Given the description of an element on the screen output the (x, y) to click on. 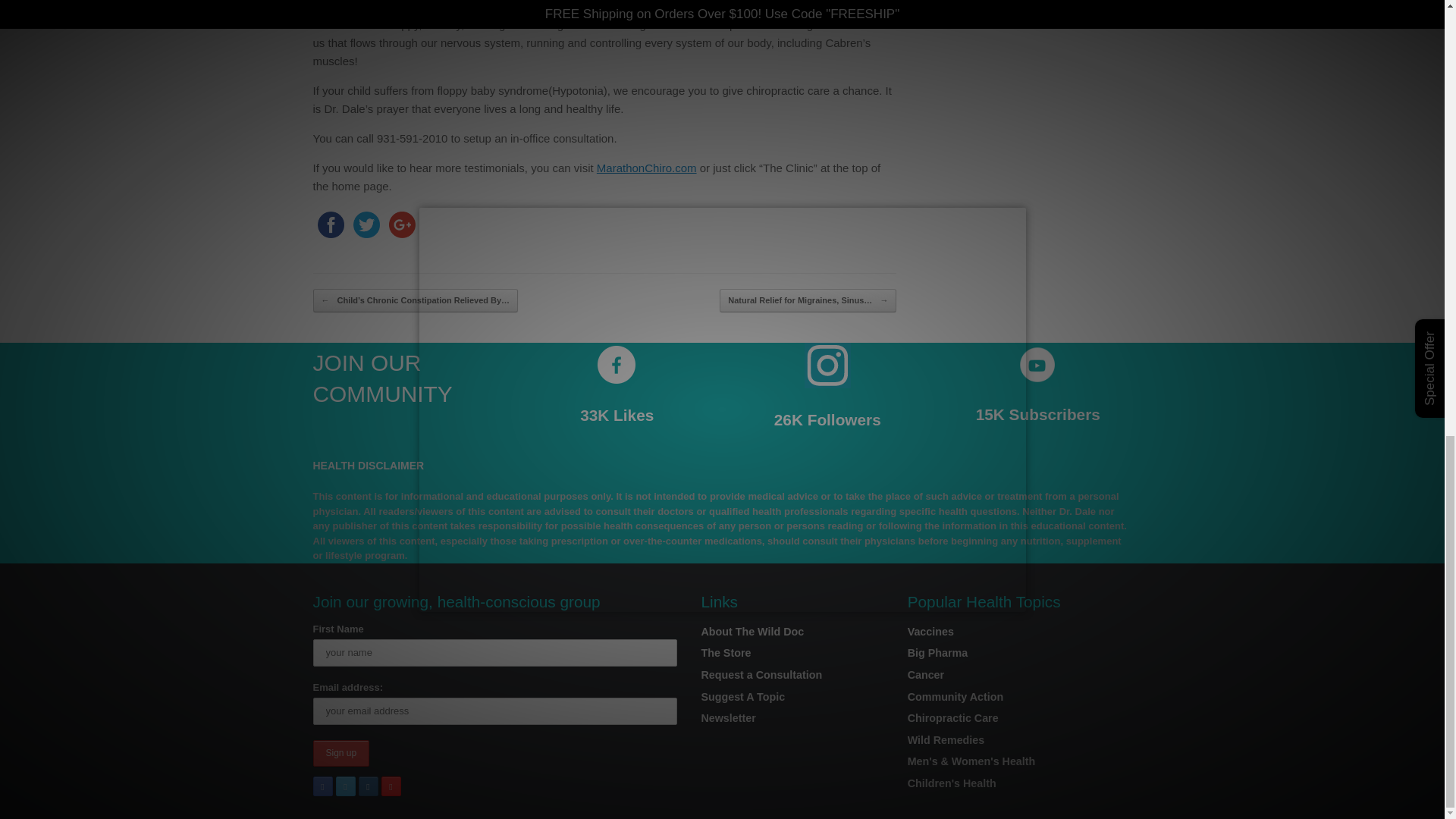
Sign up (341, 753)
facebook (330, 224)
